Given the description of an element on the screen output the (x, y) to click on. 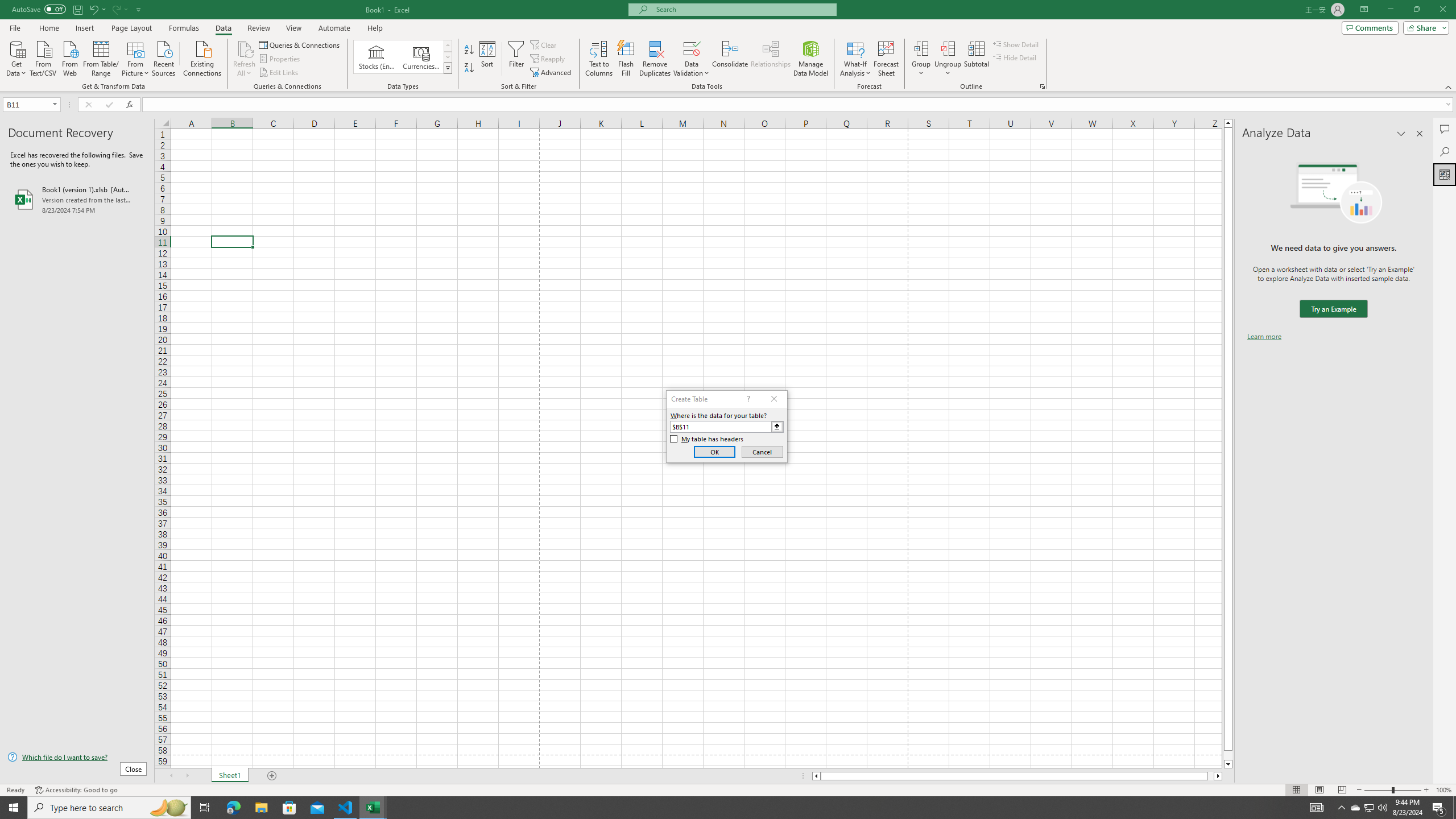
From Picture (135, 57)
Consolidate... (729, 58)
